Given the description of an element on the screen output the (x, y) to click on. 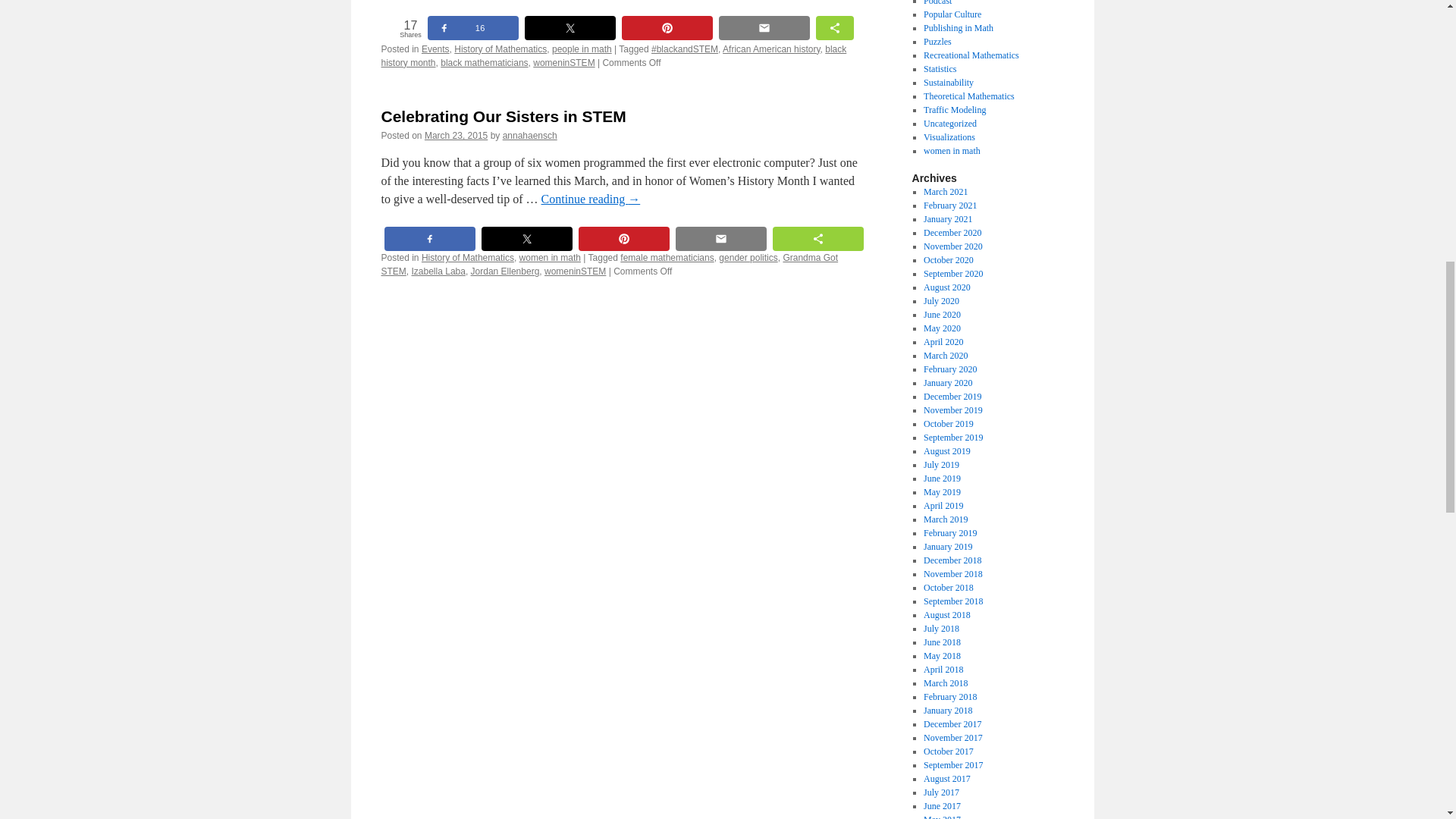
African American history (771, 49)
History of Mathematics (500, 49)
6:41 am (456, 135)
people in math (581, 49)
Events (435, 49)
black history month (612, 55)
View all posts by annahaensch (529, 135)
